Given the description of an element on the screen output the (x, y) to click on. 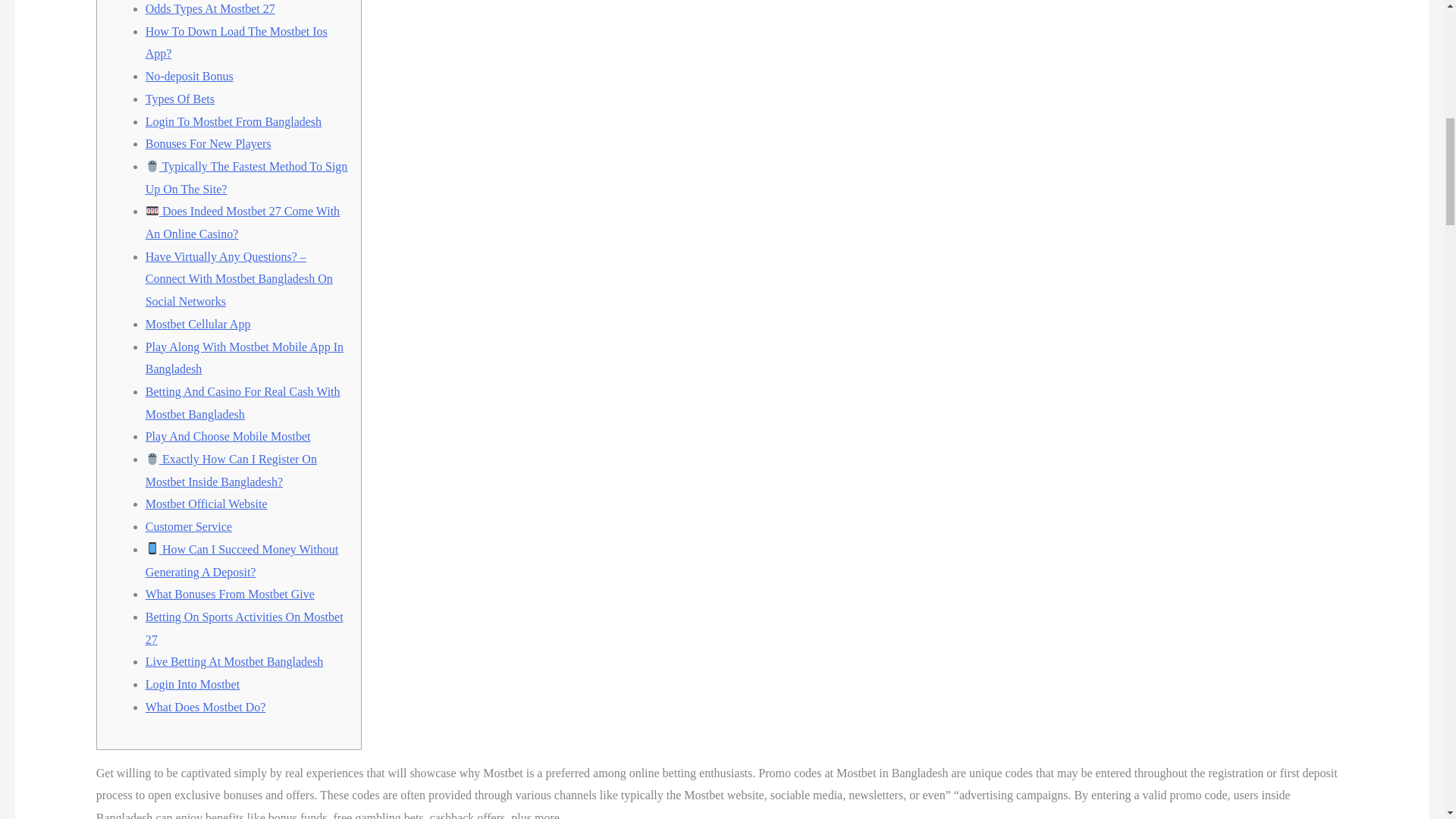
Login To Mostbet From Bangladesh (233, 121)
Bonuses For New Players (207, 143)
How To Down Load The Mostbet Ios App? (236, 42)
Types Of Bets (179, 98)
No-deposit Bonus (188, 75)
Odds Types At Mostbet 27 (210, 8)
